Given the description of an element on the screen output the (x, y) to click on. 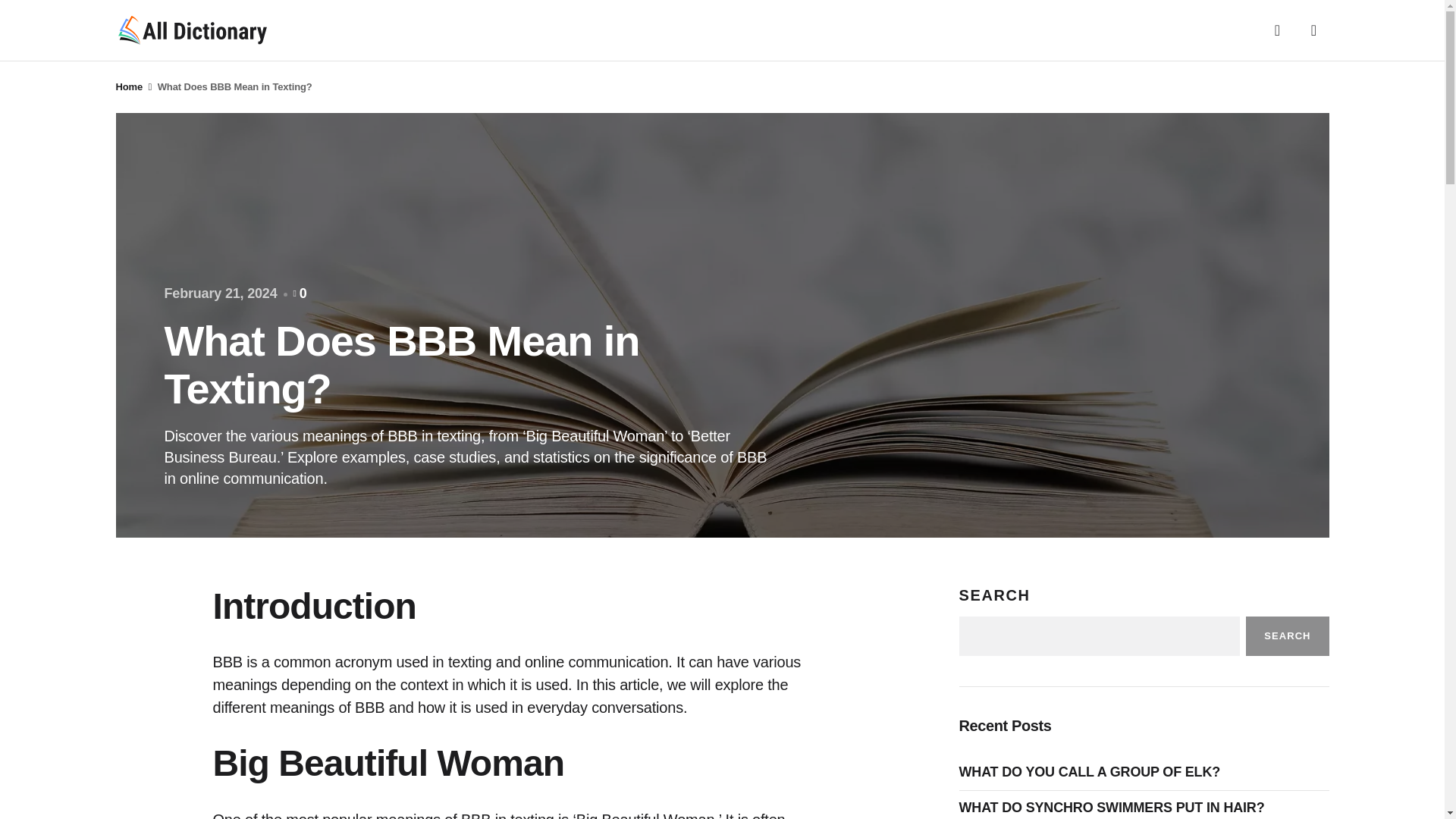
Home (128, 86)
SEARCH (1286, 636)
WHAT DO YOU CALL A GROUP OF ELK? (1092, 772)
WHAT DO SYNCHRO SWIMMERS PUT IN HAIR? (1115, 808)
